Given the description of an element on the screen output the (x, y) to click on. 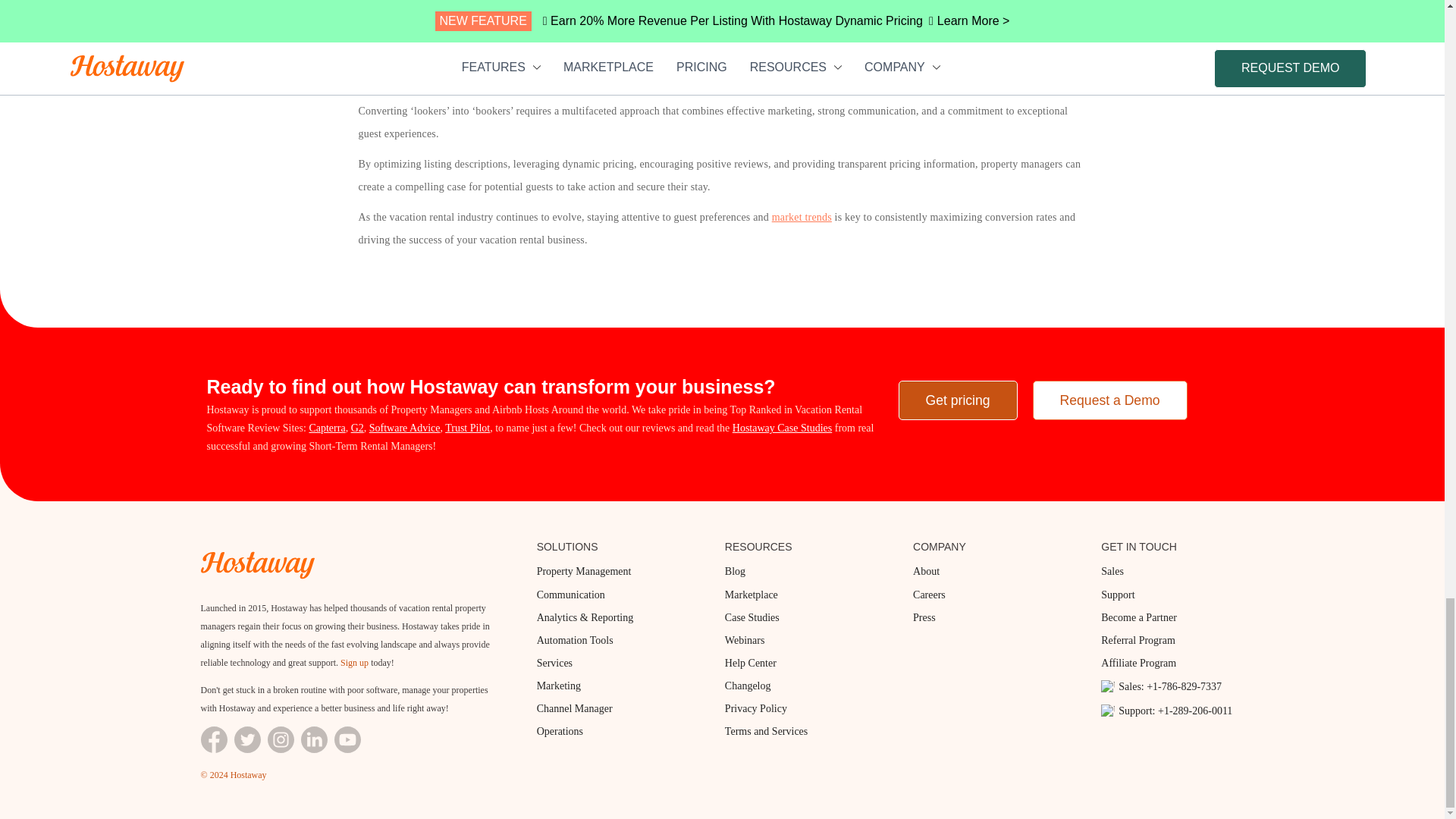
market trends (801, 216)
